Given the description of an element on the screen output the (x, y) to click on. 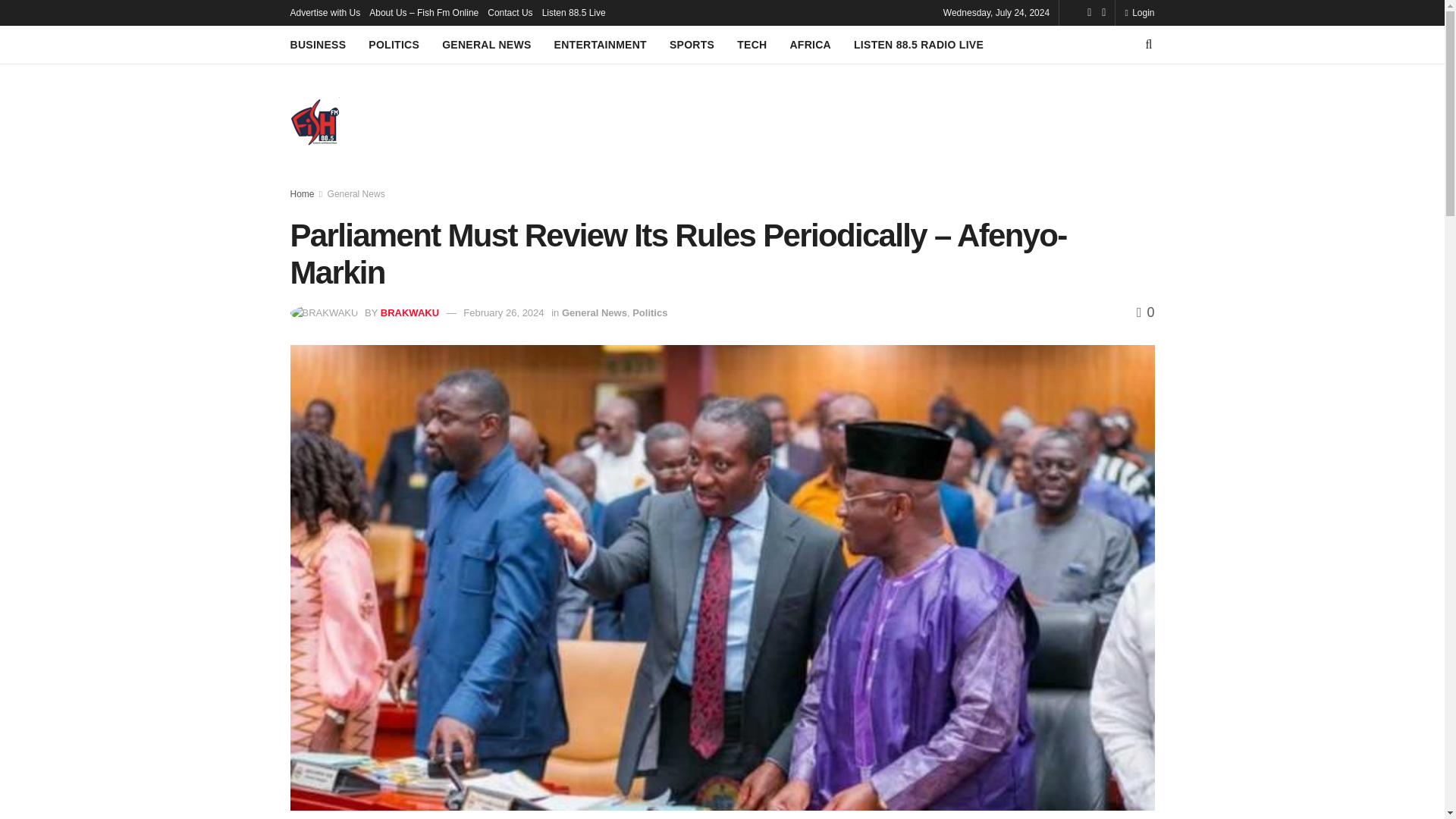
BRAKWAKU (409, 312)
February 26, 2024 (503, 312)
ENTERTAINMENT (600, 44)
AFRICA (810, 44)
Contact Us (509, 12)
0 (1145, 312)
POLITICS (393, 44)
General News (356, 194)
Home (301, 194)
GENERAL NEWS (486, 44)
General News (594, 312)
Politics (648, 312)
Login (1139, 12)
SPORTS (691, 44)
LISTEN 88.5 RADIO LIVE (918, 44)
